Given the description of an element on the screen output the (x, y) to click on. 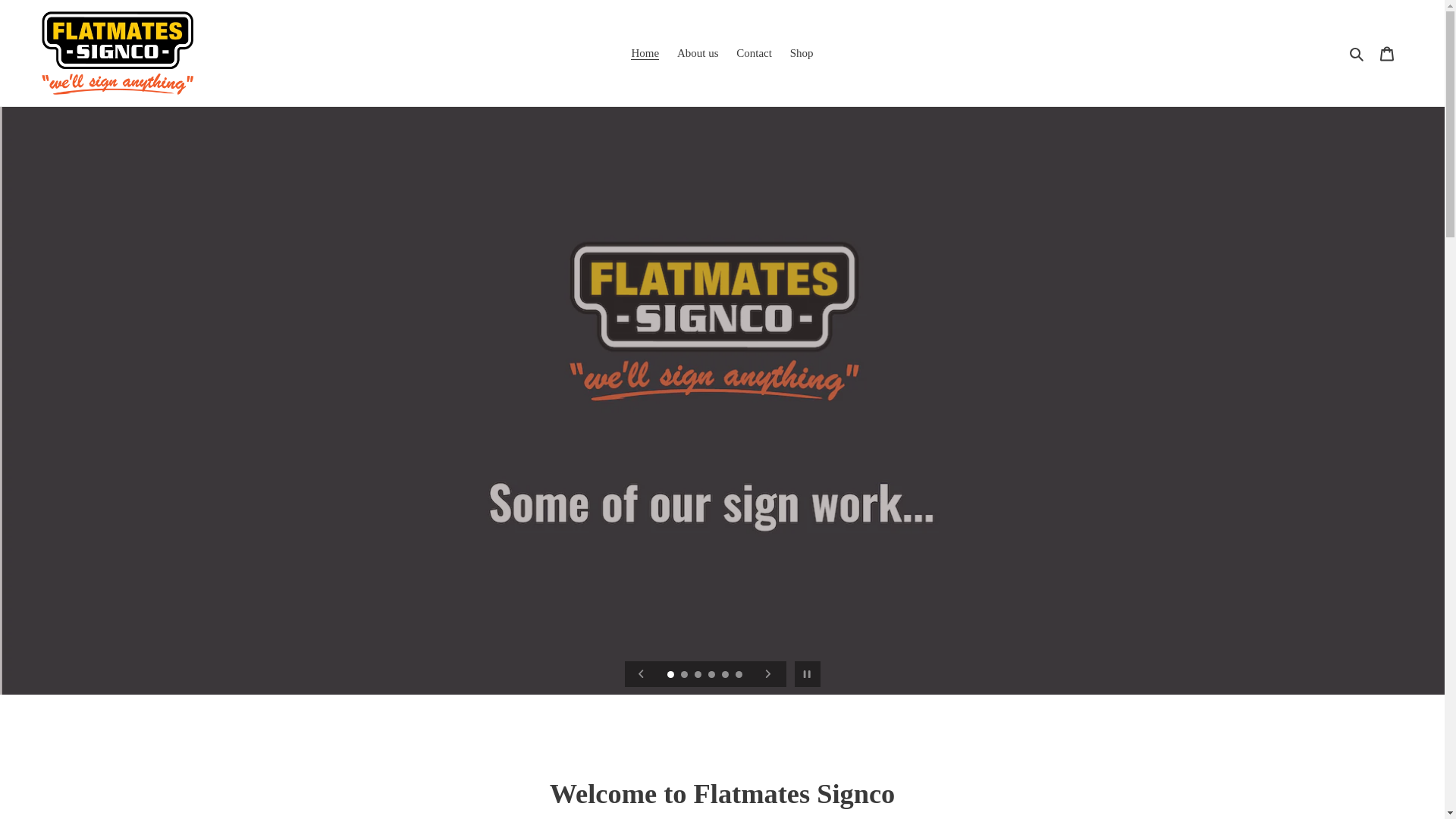
About us (697, 53)
Pause slideshow (807, 674)
Search (1357, 53)
Cart (1387, 52)
Contact (753, 53)
Shop (802, 53)
Home (644, 53)
